Given the description of an element on the screen output the (x, y) to click on. 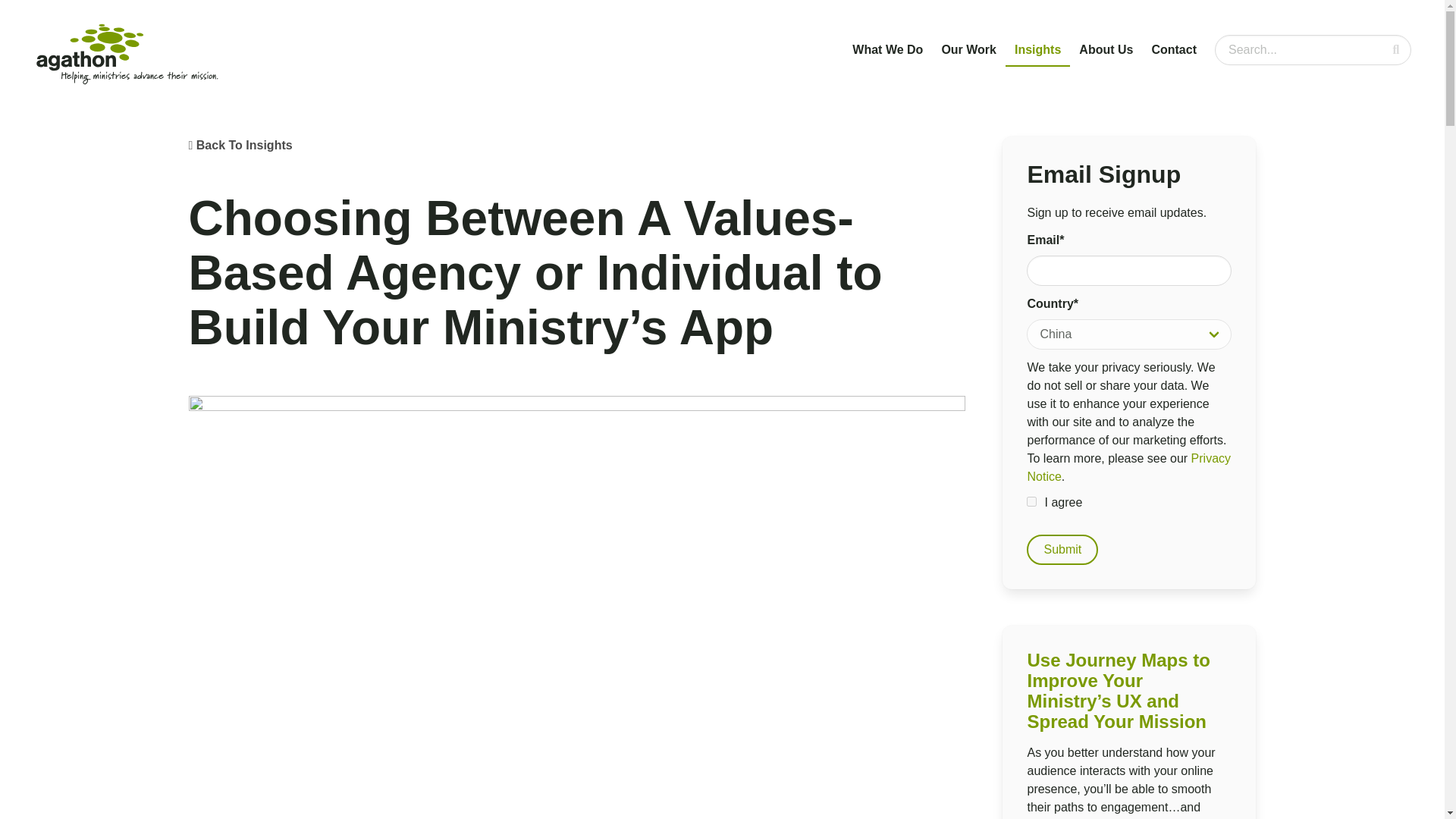
Back To Insights (244, 144)
Submit (1061, 549)
What We Do (887, 50)
Privacy Notice (1128, 467)
About Us (1105, 50)
1 (1031, 501)
Our Work (968, 50)
Insights (1038, 50)
Submit (1061, 549)
Contact (1173, 50)
